Given the description of an element on the screen output the (x, y) to click on. 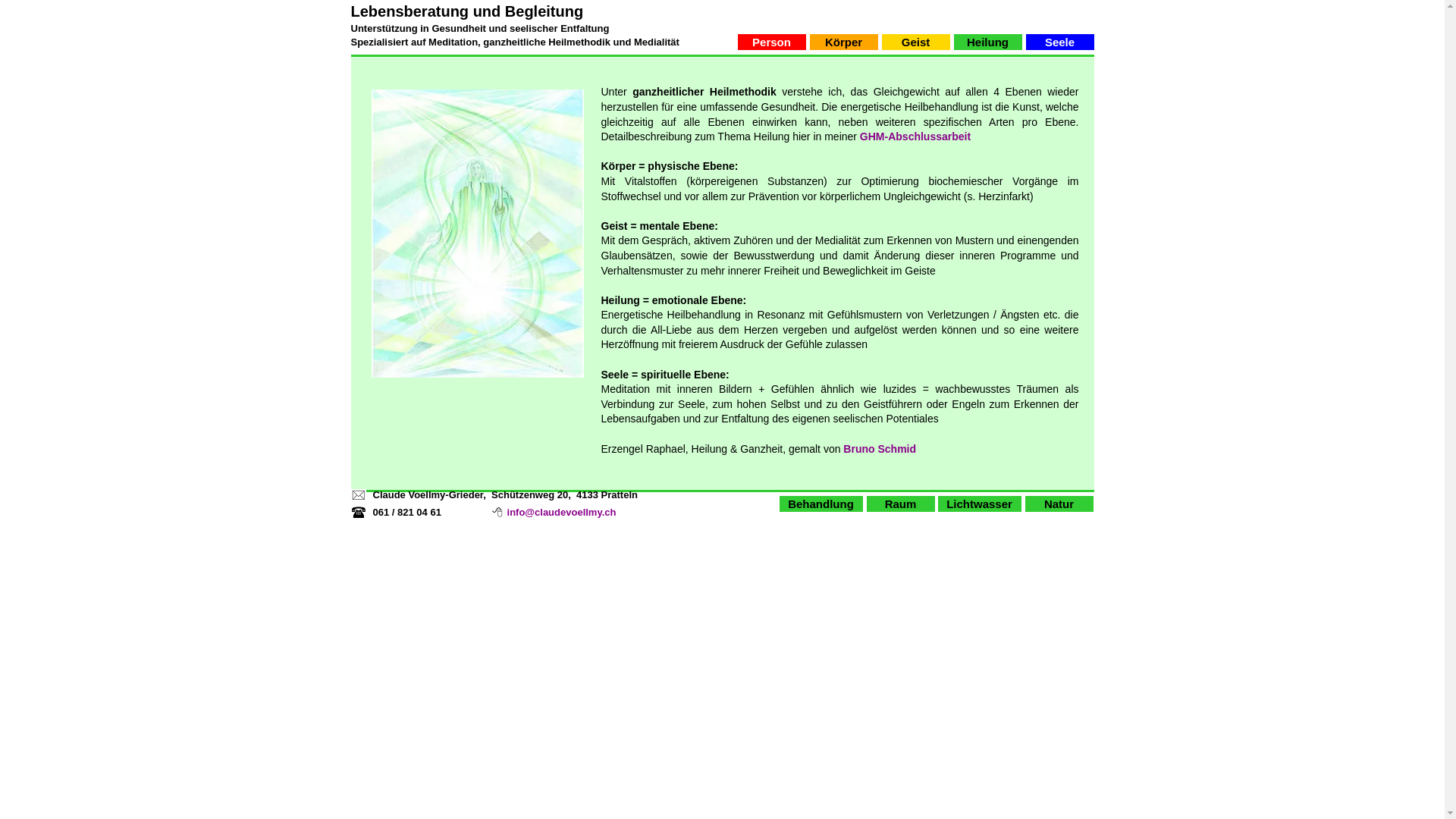
GHM-Abschlussarbeit Element type: text (914, 136)
Seele Element type: text (1059, 42)
Behandlung Element type: text (820, 503)
Geist Element type: text (915, 42)
Heilung Element type: text (987, 42)
Lebensberatung und Begleitung Element type: text (466, 11)
Natur Element type: text (1059, 503)
Person Element type: text (771, 42)
Raum Element type: text (900, 503)
Lichtwasser Element type: text (978, 503)
Bruno Schmid Element type: text (879, 448)
info@claudevoellmy.ch Element type: text (561, 511)
